Given the description of an element on the screen output the (x, y) to click on. 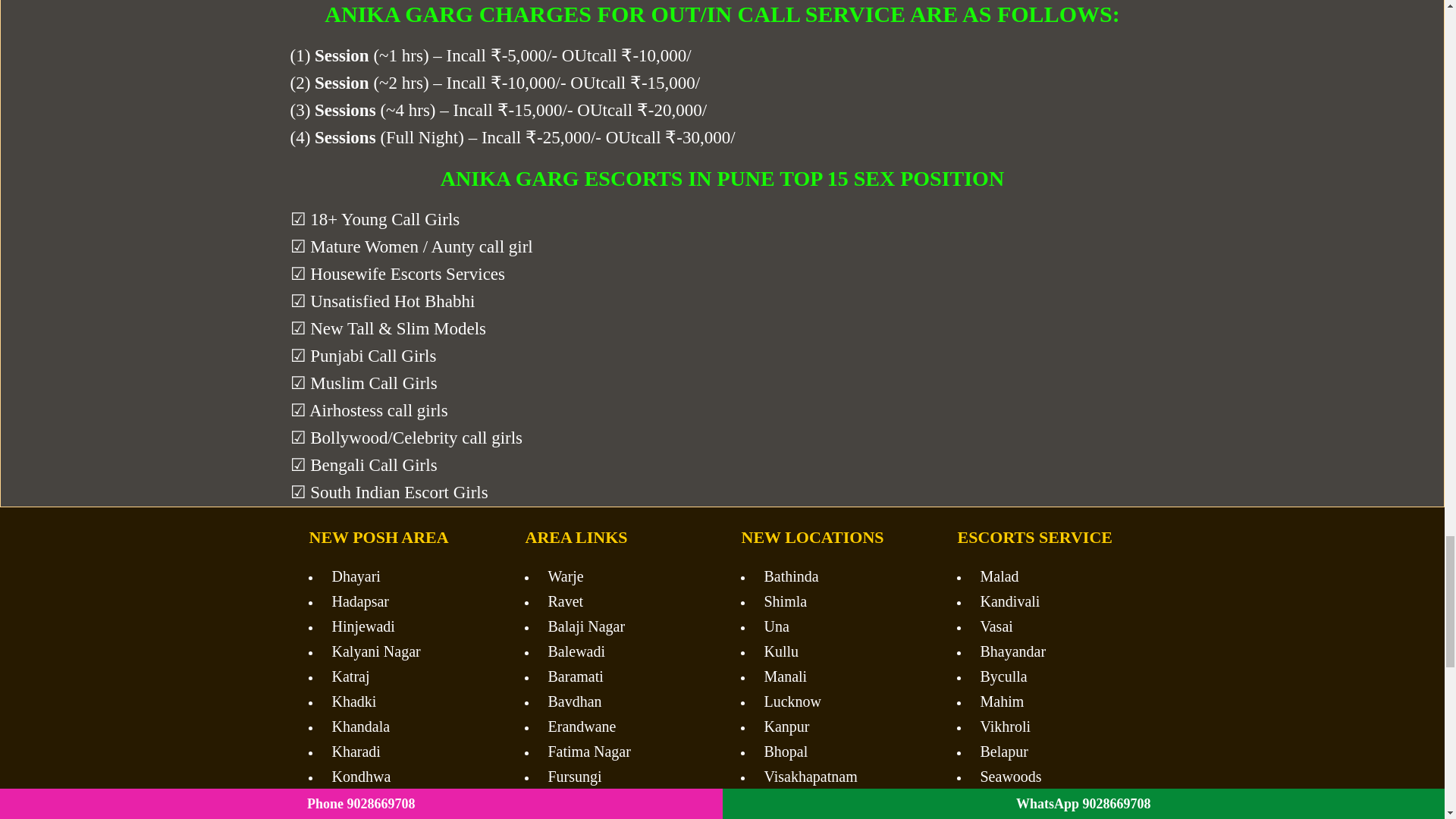
Kharadi (401, 751)
Dhayari (401, 576)
Khandala (401, 726)
Hinjewadi (401, 626)
Hadapsar (401, 601)
Katraj (401, 676)
Kalyani Nagar (401, 651)
Kondhwa (401, 776)
Koregaon Park (401, 801)
Khadki (401, 701)
